Given the description of an element on the screen output the (x, y) to click on. 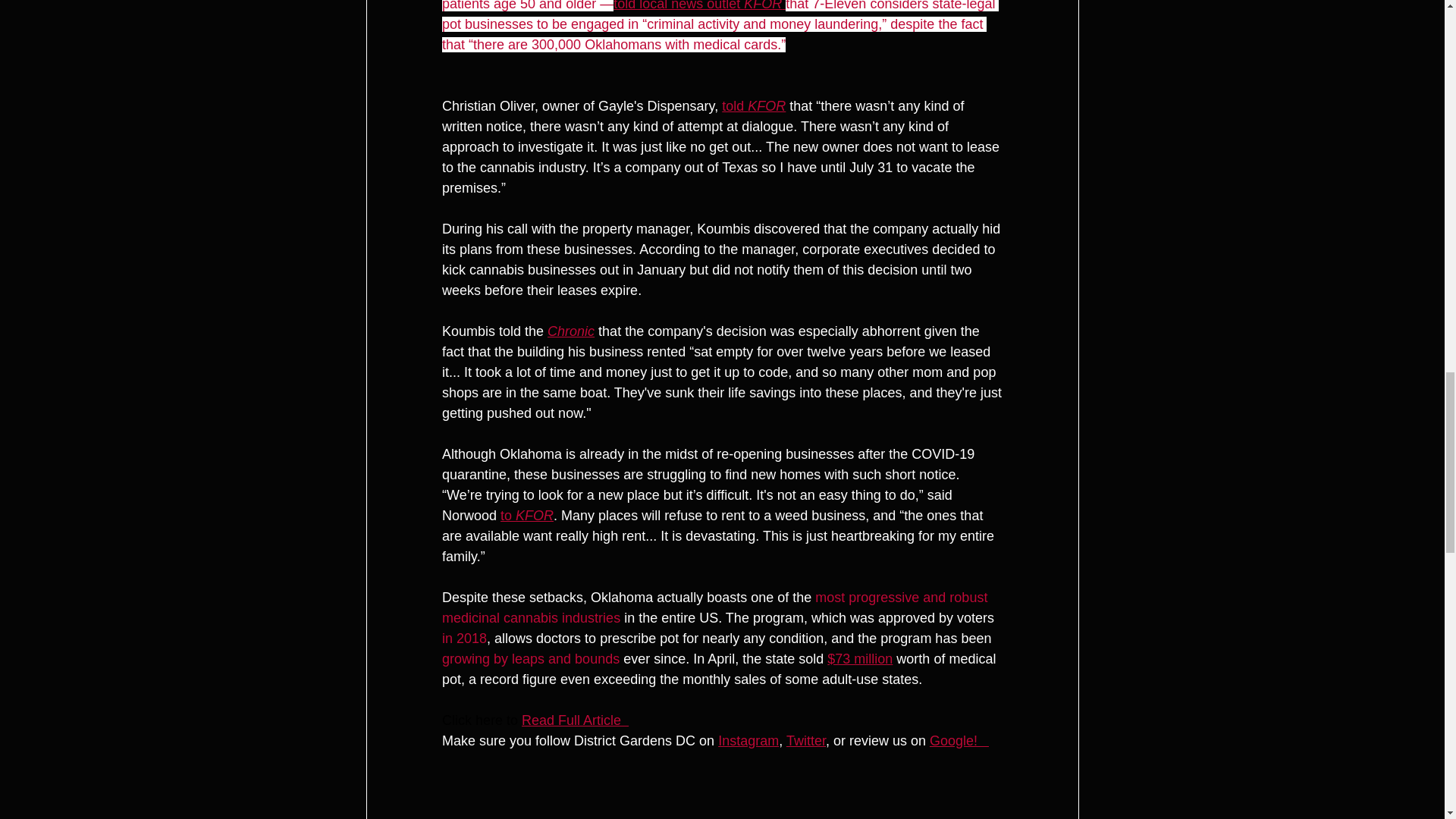
KFOR (767, 105)
Read Full Article   (574, 720)
to  (507, 515)
KFOR (534, 515)
growing by leaps and bounds (529, 658)
in 2018 (463, 638)
told local news outlet  (678, 5)
Instagram (747, 740)
most progressive and robust medicinal cannabis industries (715, 607)
told  (735, 105)
